Given the description of an element on the screen output the (x, y) to click on. 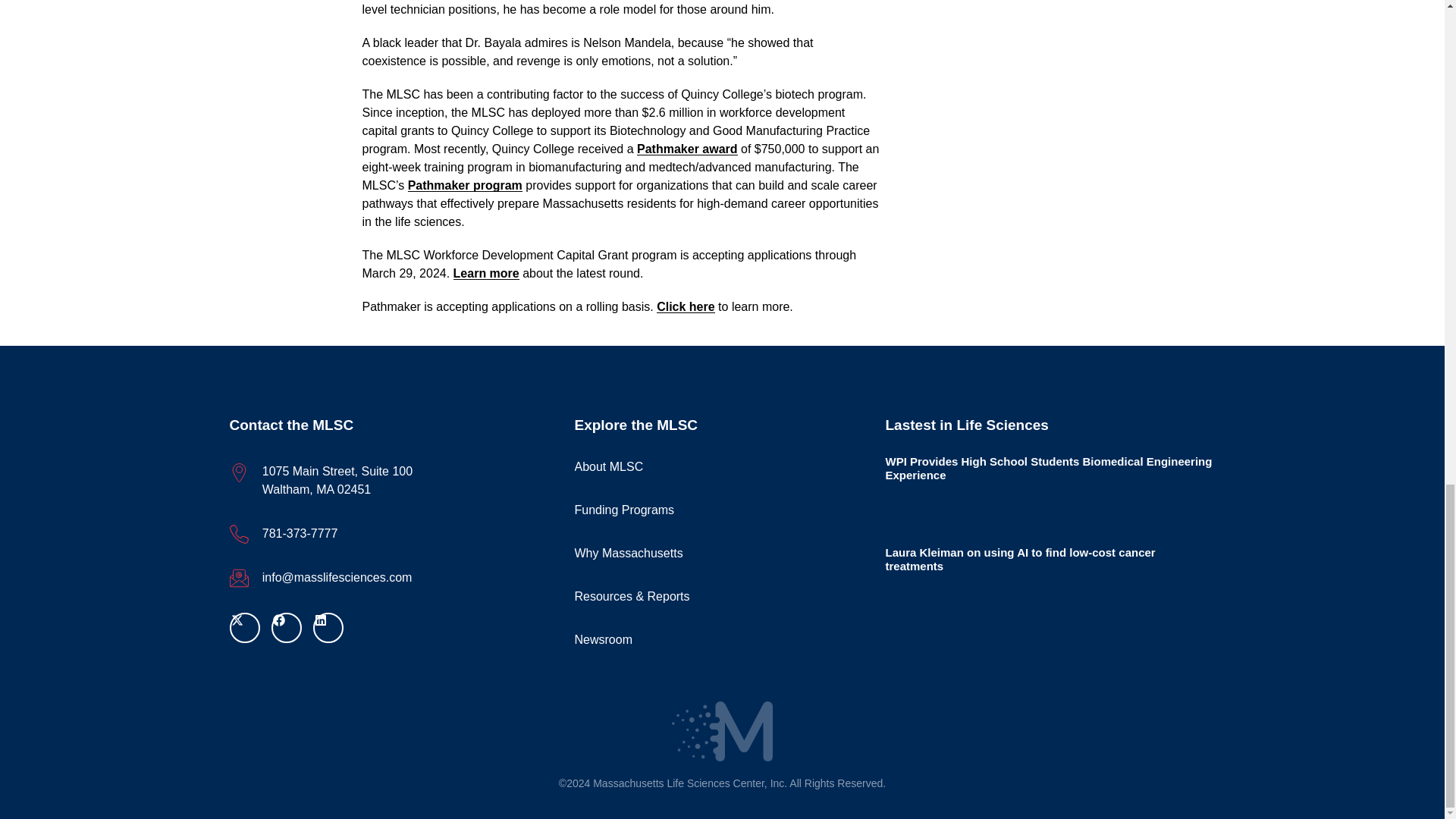
Facebook (285, 627)
Pathmaker program (464, 185)
Pathmaker award (687, 148)
Linkedin (327, 627)
TwitterX (243, 627)
Learn more (485, 273)
Click here (685, 306)
